Given the description of an element on the screen output the (x, y) to click on. 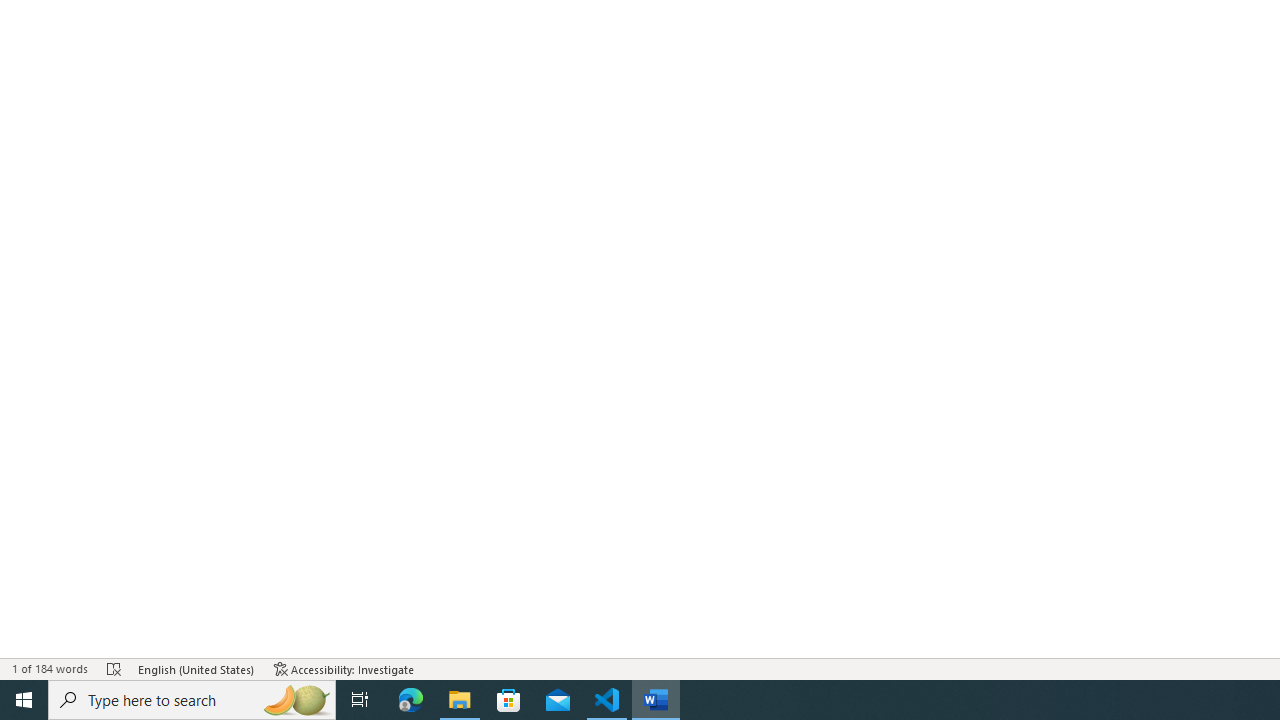
Spelling and Grammar Check Errors (114, 668)
Word Count 1 of 184 words (49, 668)
